Given the description of an element on the screen output the (x, y) to click on. 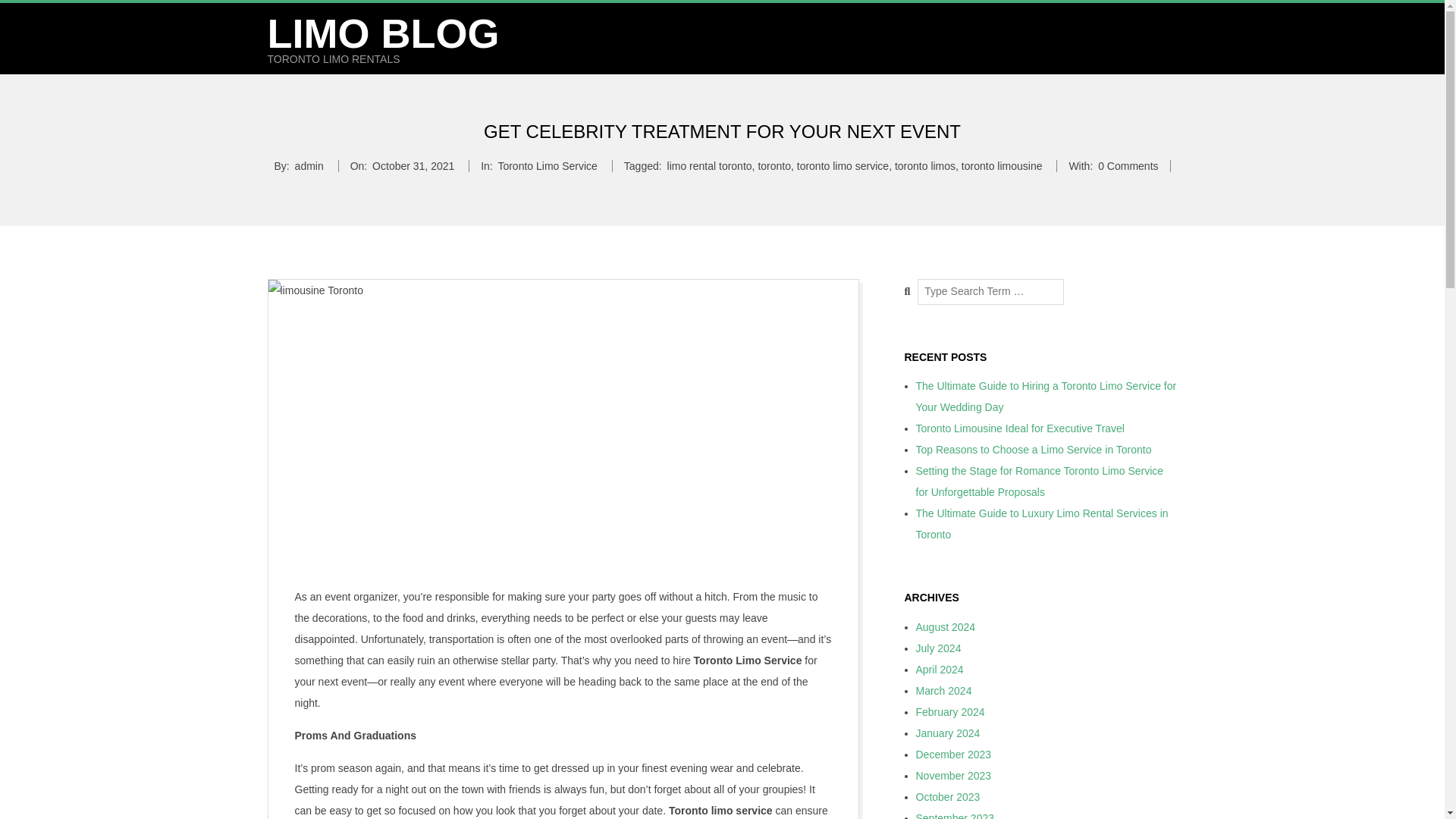
October 2023 (947, 797)
toronto limo service (842, 165)
August 2024 (945, 626)
Sunday, October 31, 2021, 6:05 pm (413, 165)
April 2024 (939, 669)
Posts by admin (309, 165)
December 2023 (953, 754)
toronto limousine (1001, 165)
Top Reasons to Choose a Limo Service in Toronto (1033, 449)
